Given the description of an element on the screen output the (x, y) to click on. 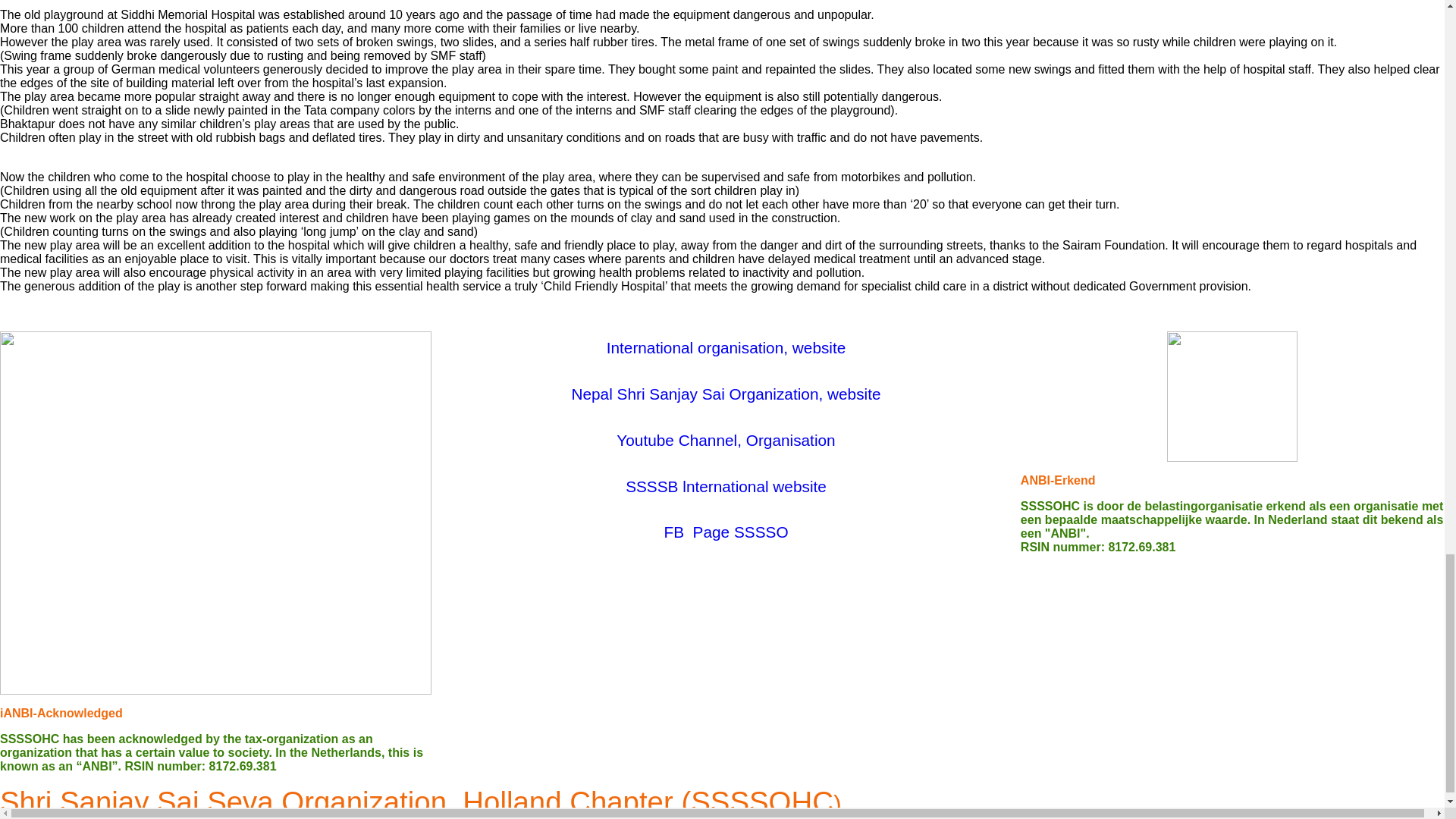
www.ssssb.info (726, 486)
